Given the description of an element on the screen output the (x, y) to click on. 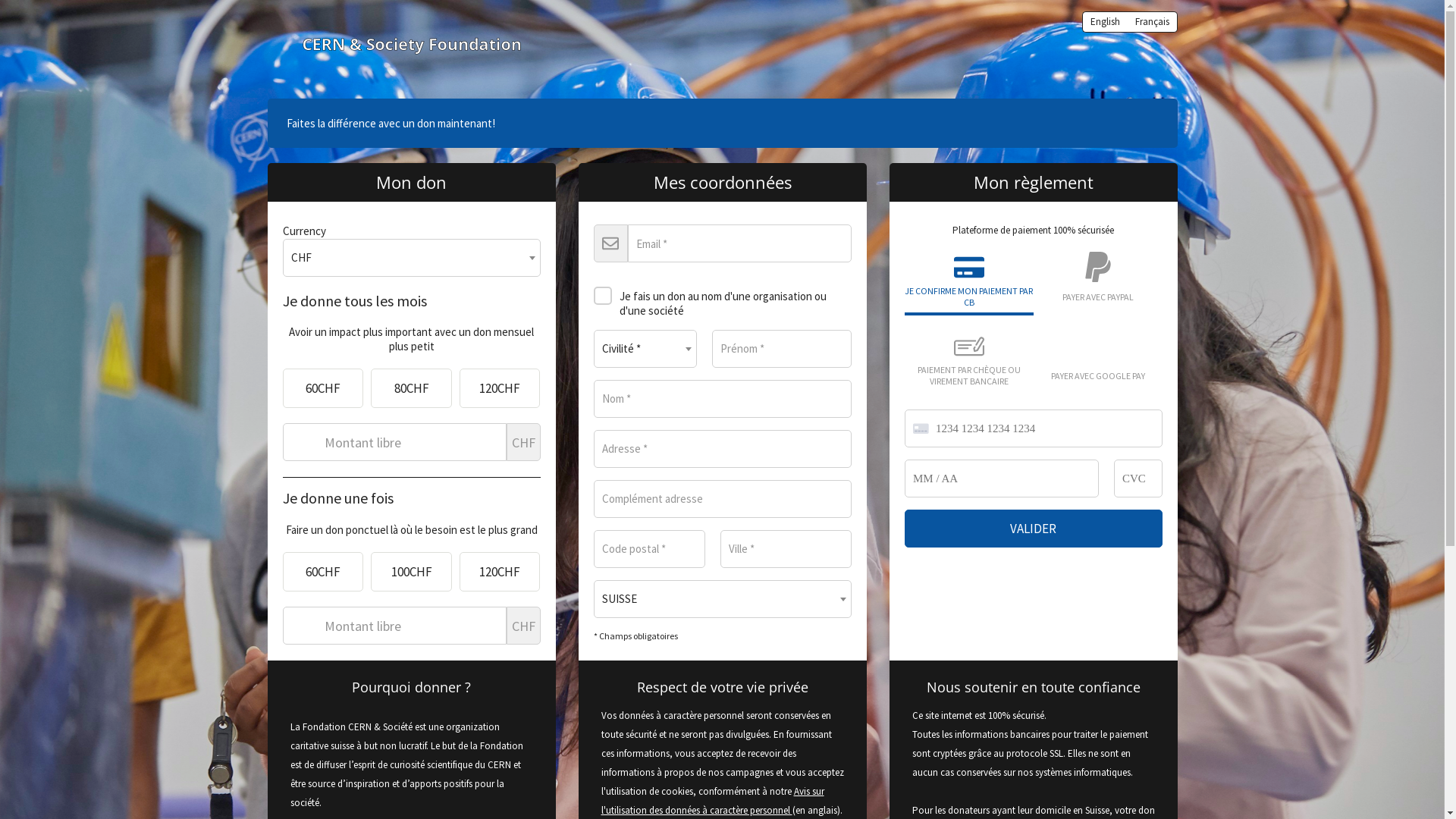
English Element type: text (1103, 21)
Valider Element type: text (1032, 528)
